Given the description of an element on the screen output the (x, y) to click on. 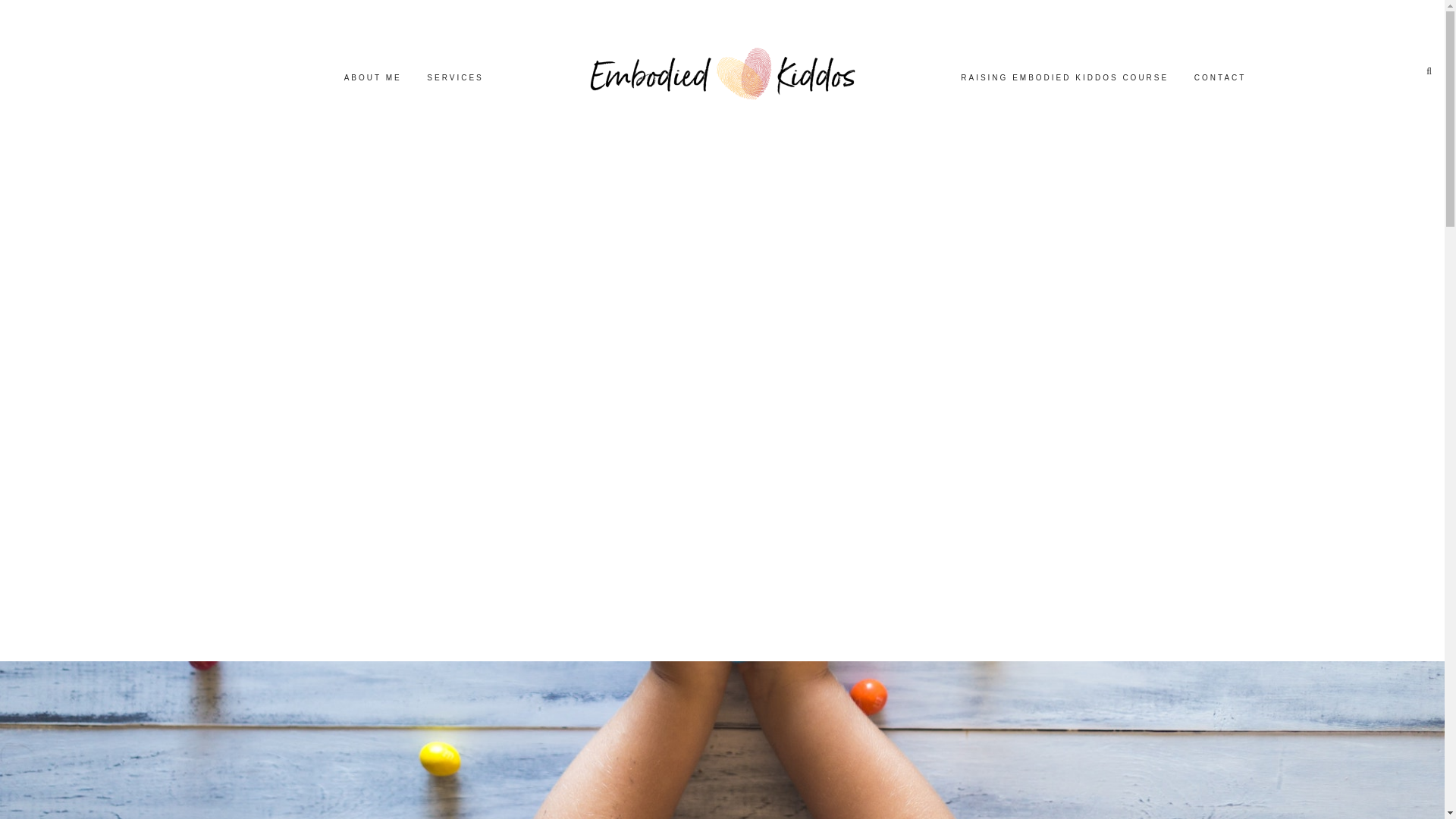
CONTACT (1220, 80)
Embodied Kiddos (722, 66)
RAISING EMBODIED KIDDOS COURSE (1064, 80)
SERVICES (454, 80)
ABOUT ME (372, 80)
